Given the description of an element on the screen output the (x, y) to click on. 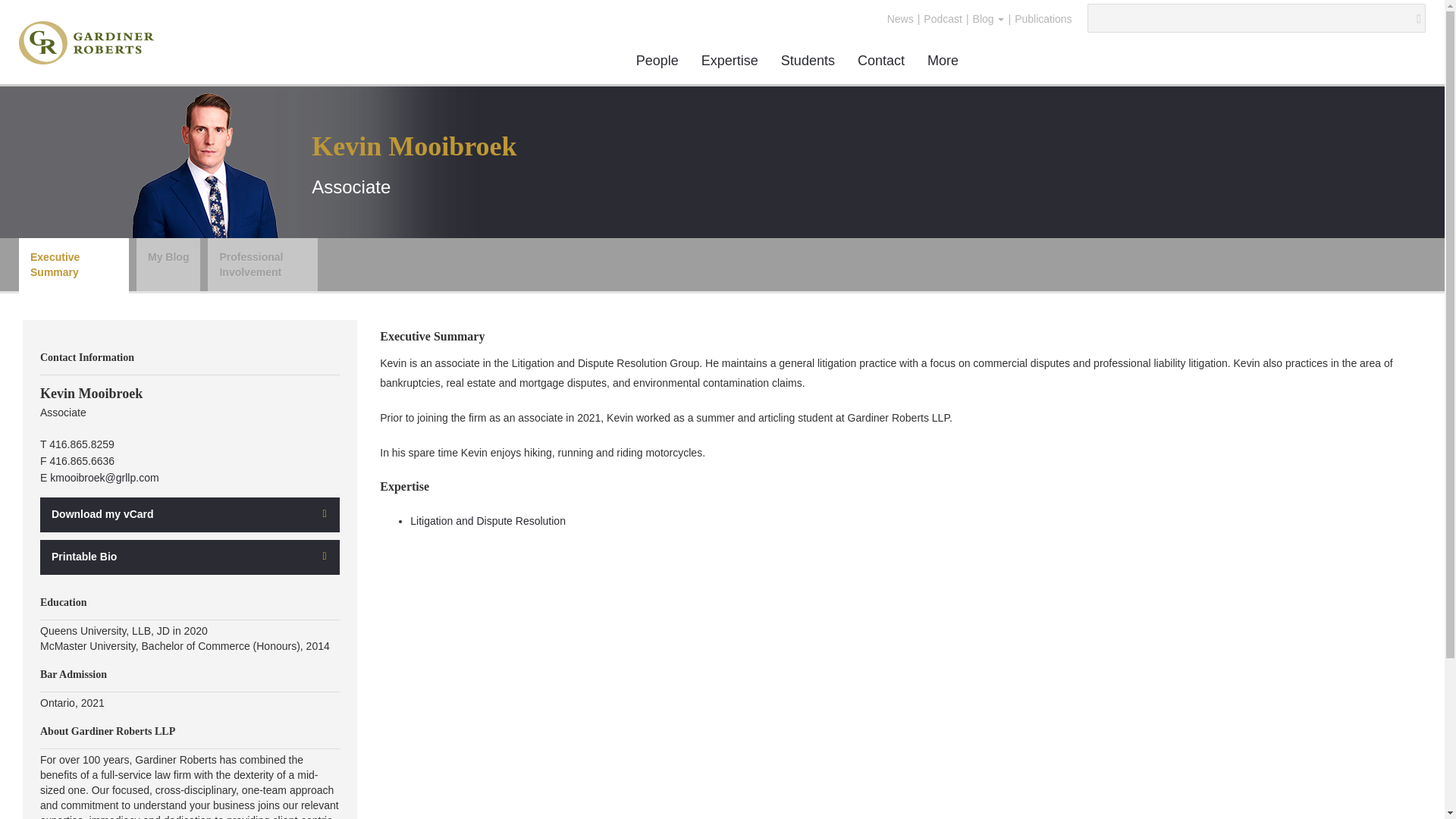
News (900, 18)
Search GR Website (1249, 17)
People (657, 60)
Publications (1042, 18)
Podcast (943, 18)
Logo Gardiner Roberts (88, 42)
Blog (989, 19)
